Given the description of an element on the screen output the (x, y) to click on. 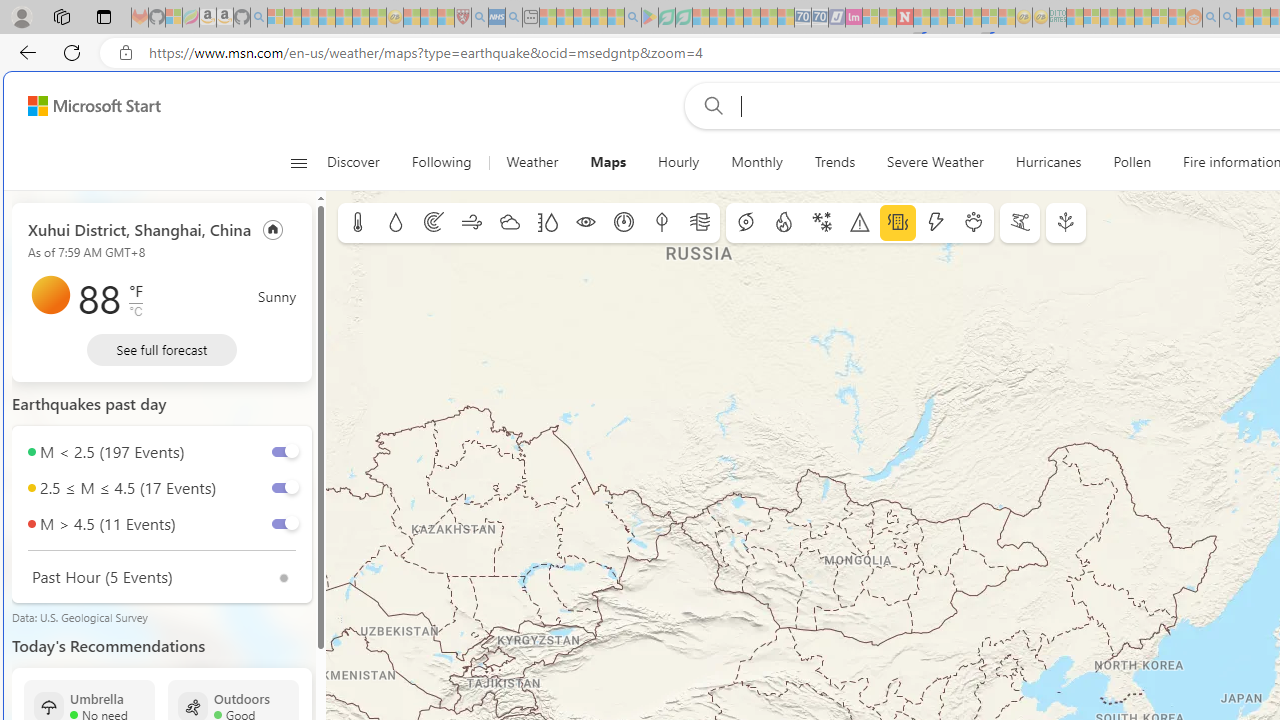
Xuhui District, Shanghai, China (140, 228)
google - Search - Sleeping (632, 17)
DITOGAMES AG Imprint - Sleeping (1057, 17)
Visibility (586, 223)
Web search (709, 105)
Humidity (547, 223)
list of asthma inhalers uk - Search - Sleeping (479, 17)
Local - MSN - Sleeping (445, 17)
Clouds (509, 223)
Hurricane (746, 223)
Radar (433, 223)
Cheap Hotels - Save70.com - Sleeping (819, 17)
